Given the description of an element on the screen output the (x, y) to click on. 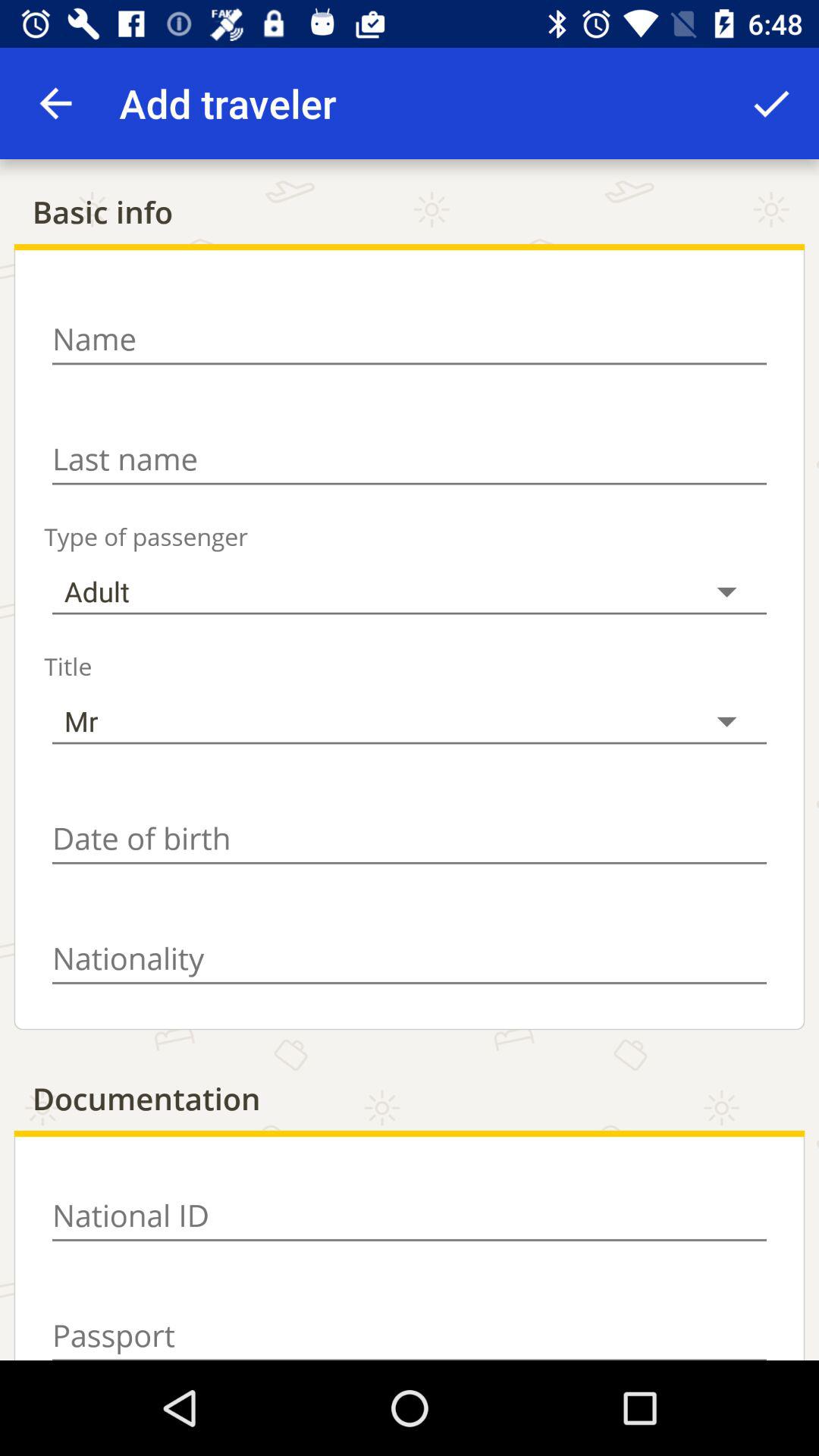
open the icon at the top right corner (771, 103)
